Given the description of an element on the screen output the (x, y) to click on. 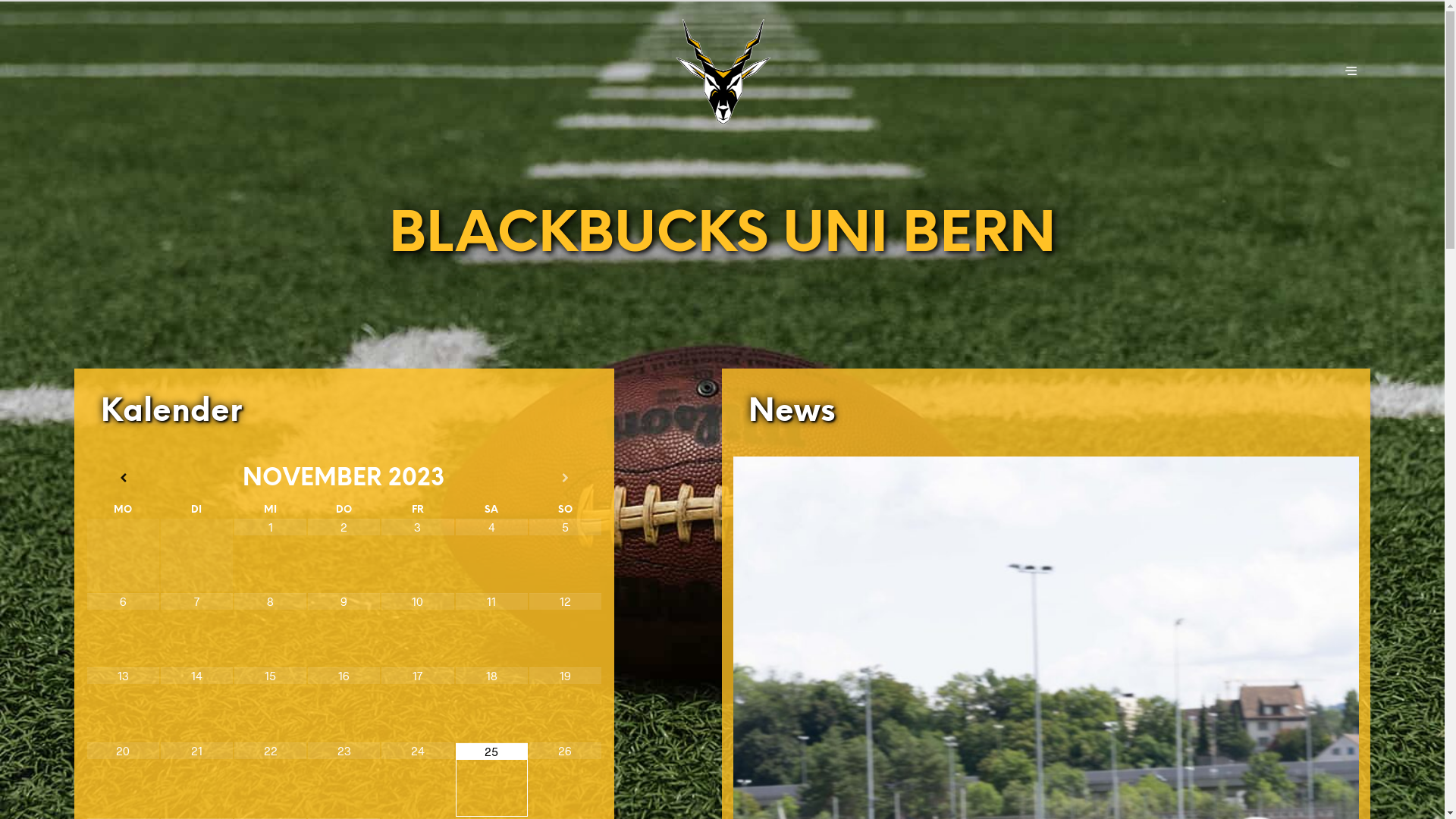
Permalink to Playoffs Basel Rankhof Element type: hover (420, 632)
Next Month Element type: hover (565, 478)
Previous Month Element type: hover (122, 478)
